Given the description of an element on the screen output the (x, y) to click on. 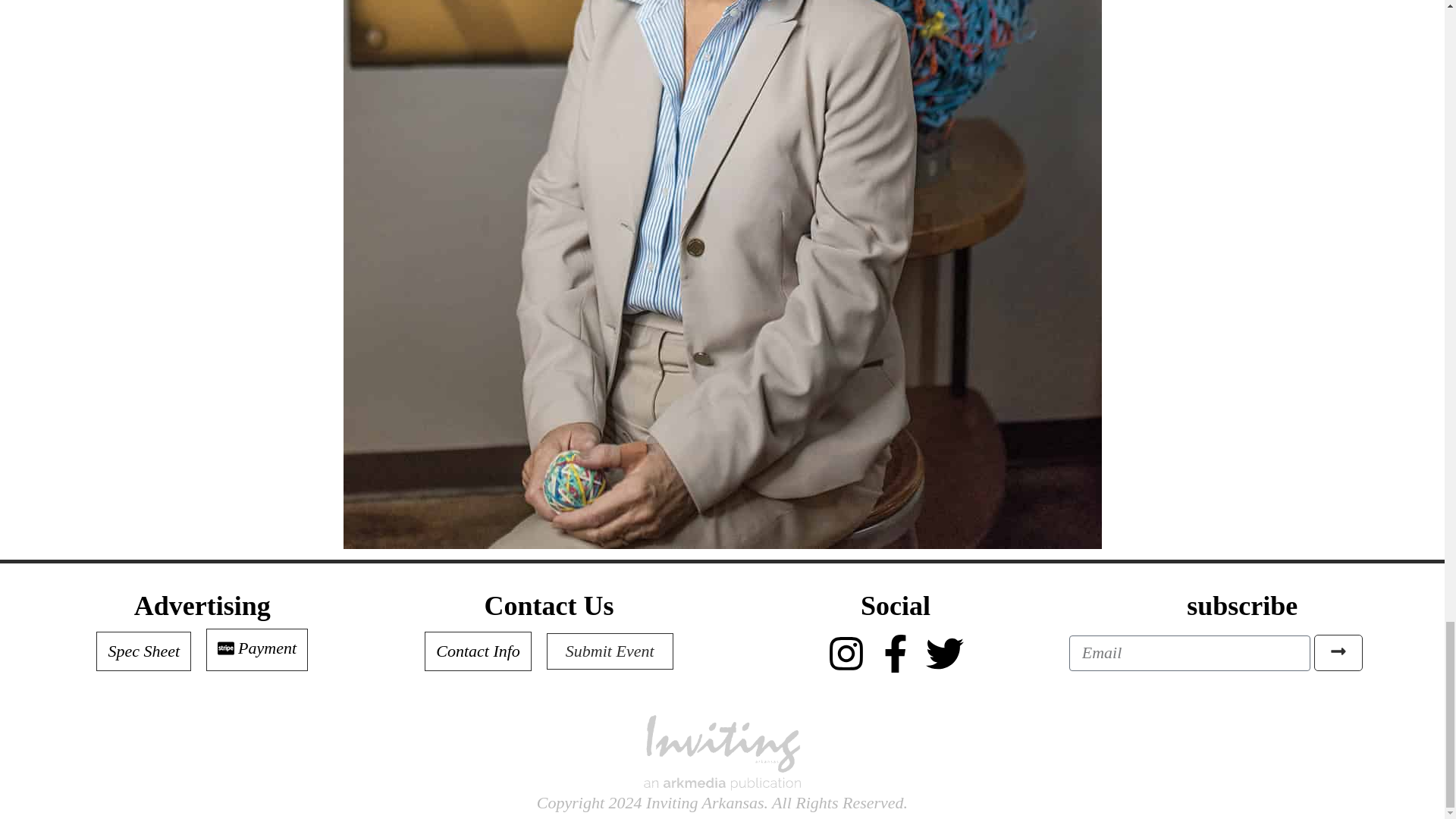
Payment (256, 649)
Spec Sheet (143, 650)
Contact Info (478, 650)
Submit Event (609, 651)
